Given the description of an element on the screen output the (x, y) to click on. 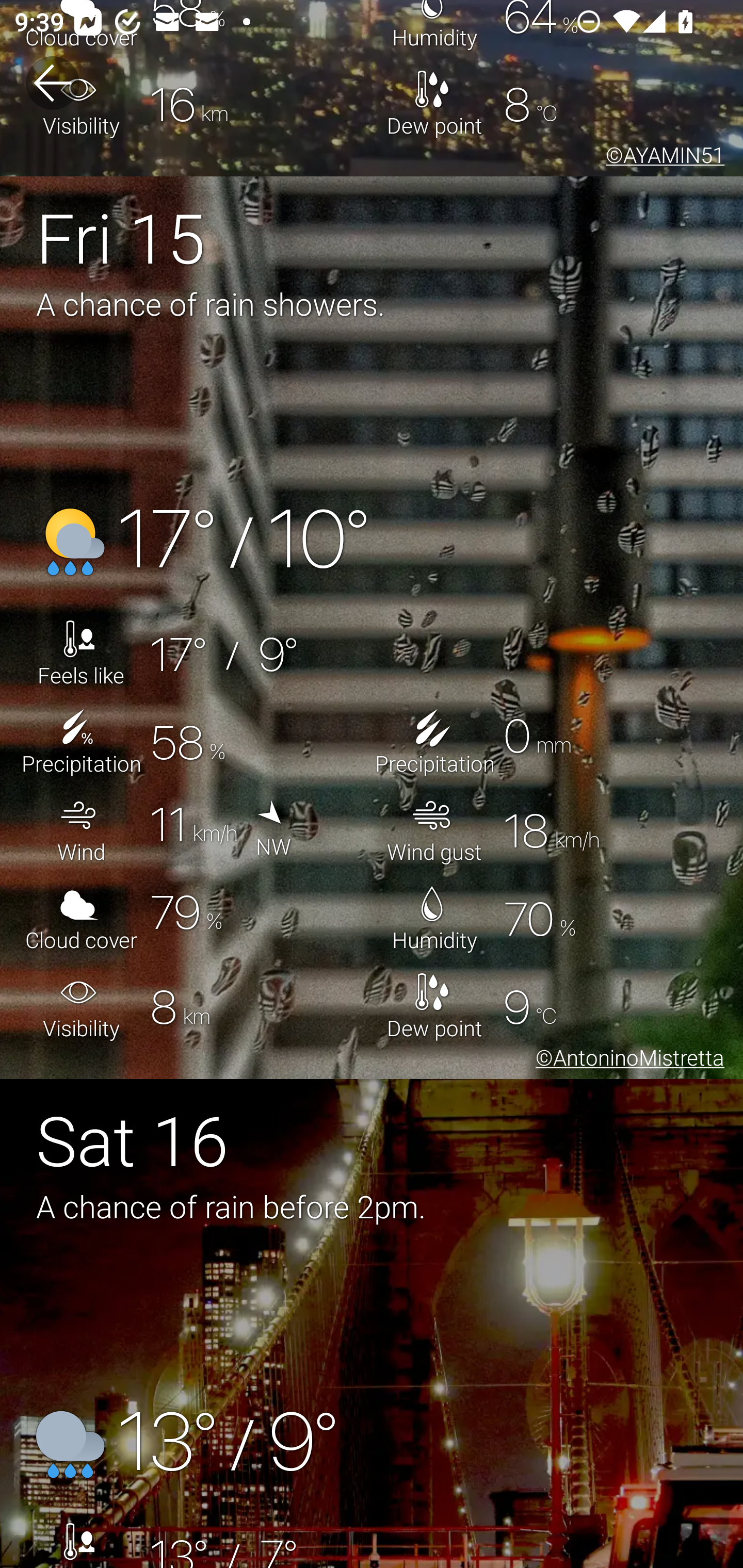
©AYAMIN51 (661, 157)
©AntoninoMistretta (626, 1060)
